Given the description of an element on the screen output the (x, y) to click on. 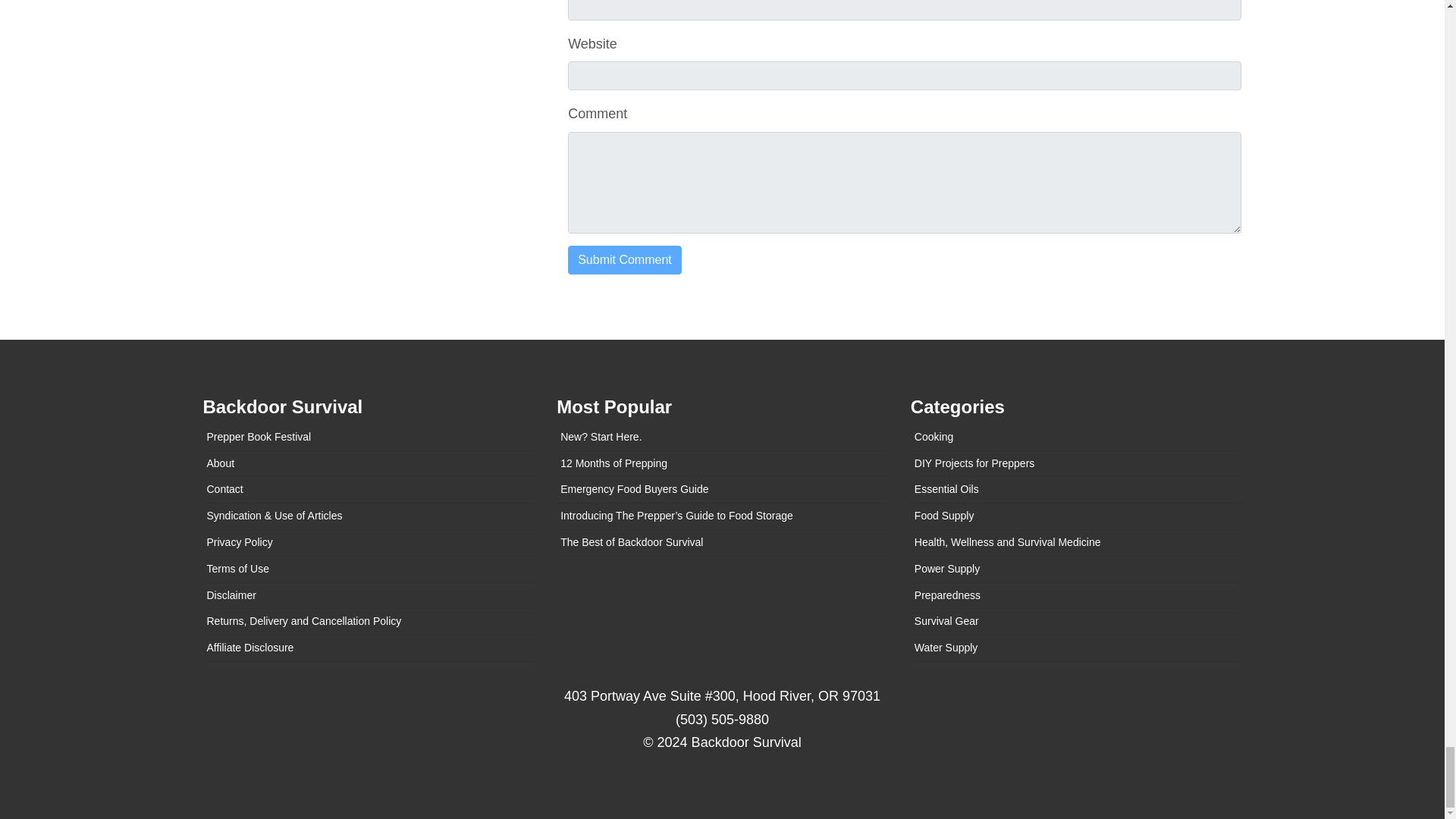
Submit Comment (624, 259)
